Given the description of an element on the screen output the (x, y) to click on. 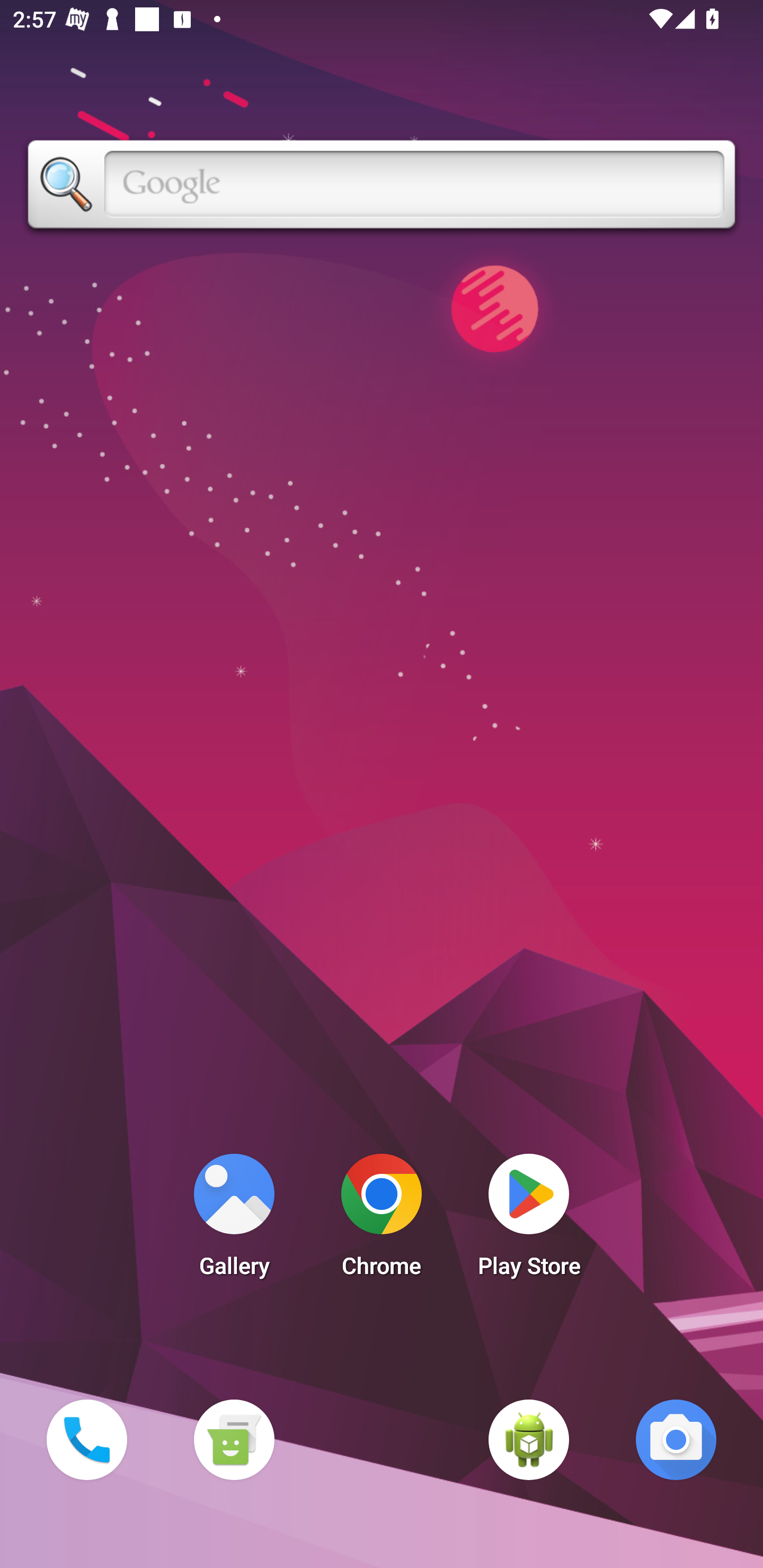
Gallery (233, 1220)
Chrome (381, 1220)
Play Store (528, 1220)
Phone (86, 1439)
Messaging (233, 1439)
WebView Browser Tester (528, 1439)
Camera (676, 1439)
